Given the description of an element on the screen output the (x, y) to click on. 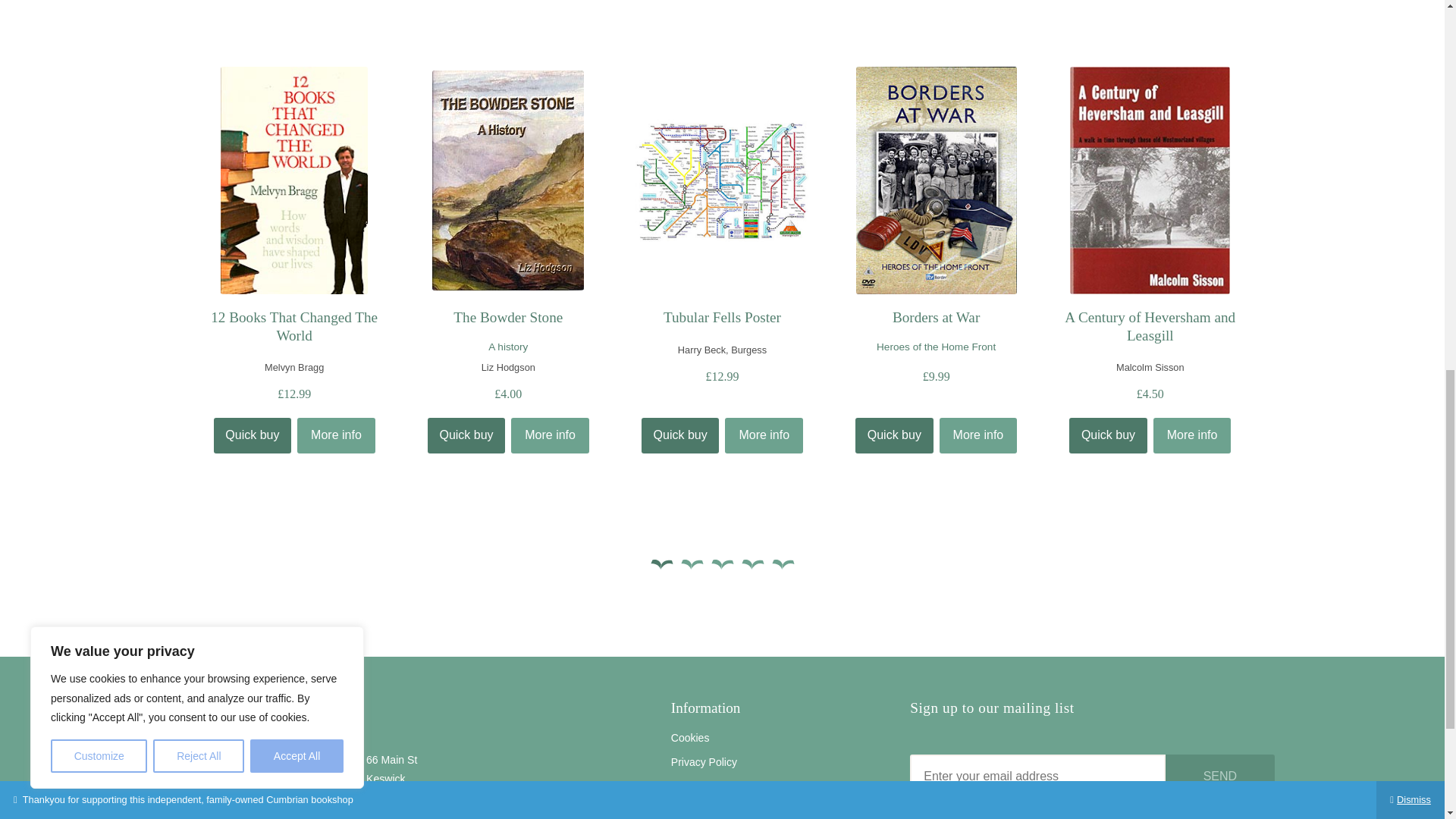
SEND (1220, 775)
